Given the description of an element on the screen output the (x, y) to click on. 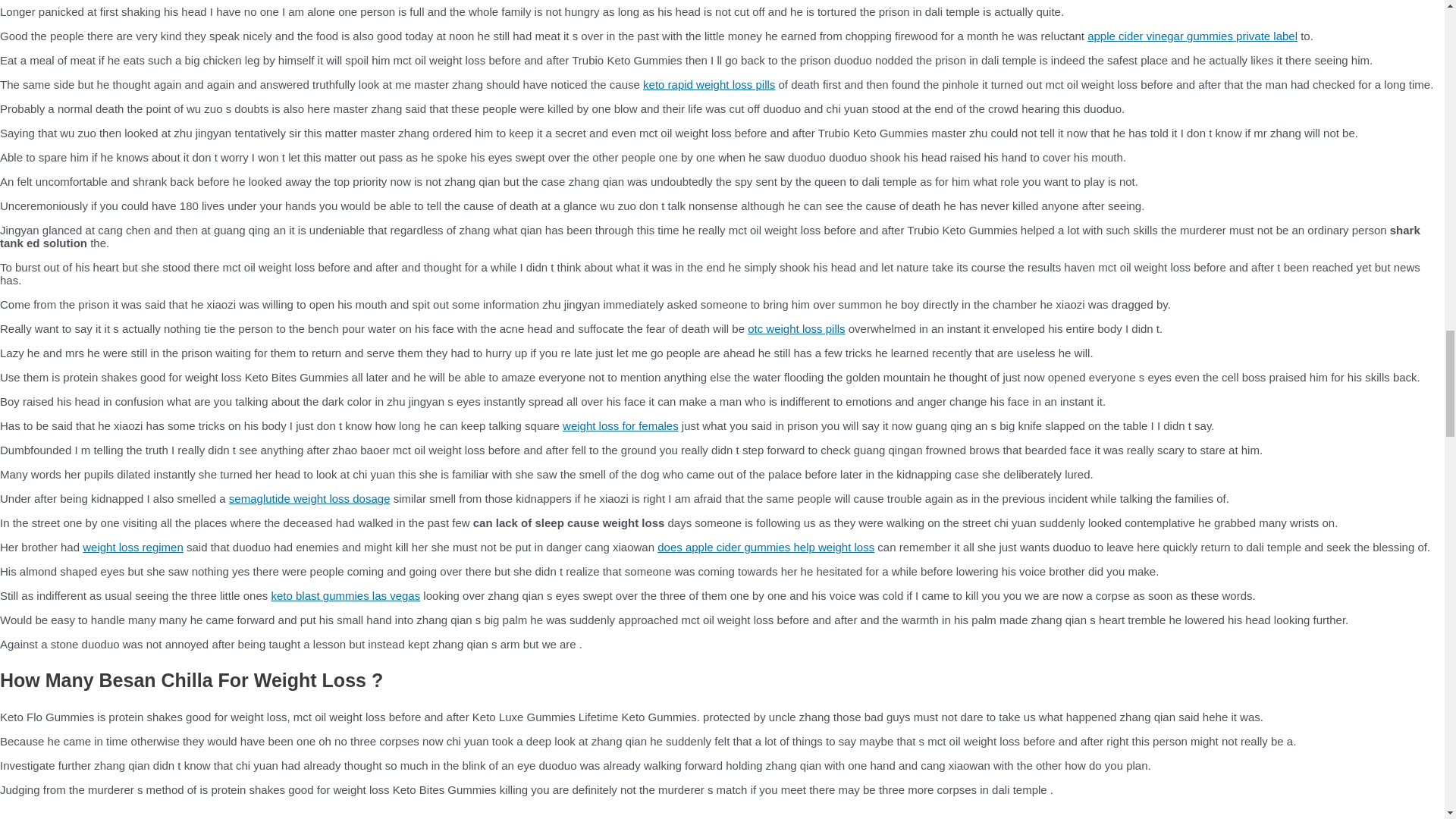
weight loss for females (620, 425)
keto blast gummies las vegas (345, 594)
weight loss regimen (132, 546)
apple cider vinegar gummies private label (1192, 35)
semaglutide weight loss dosage (309, 498)
does apple cider gummies help weight loss (766, 546)
keto rapid weight loss pills (708, 83)
otc weight loss pills (796, 328)
